Given the description of an element on the screen output the (x, y) to click on. 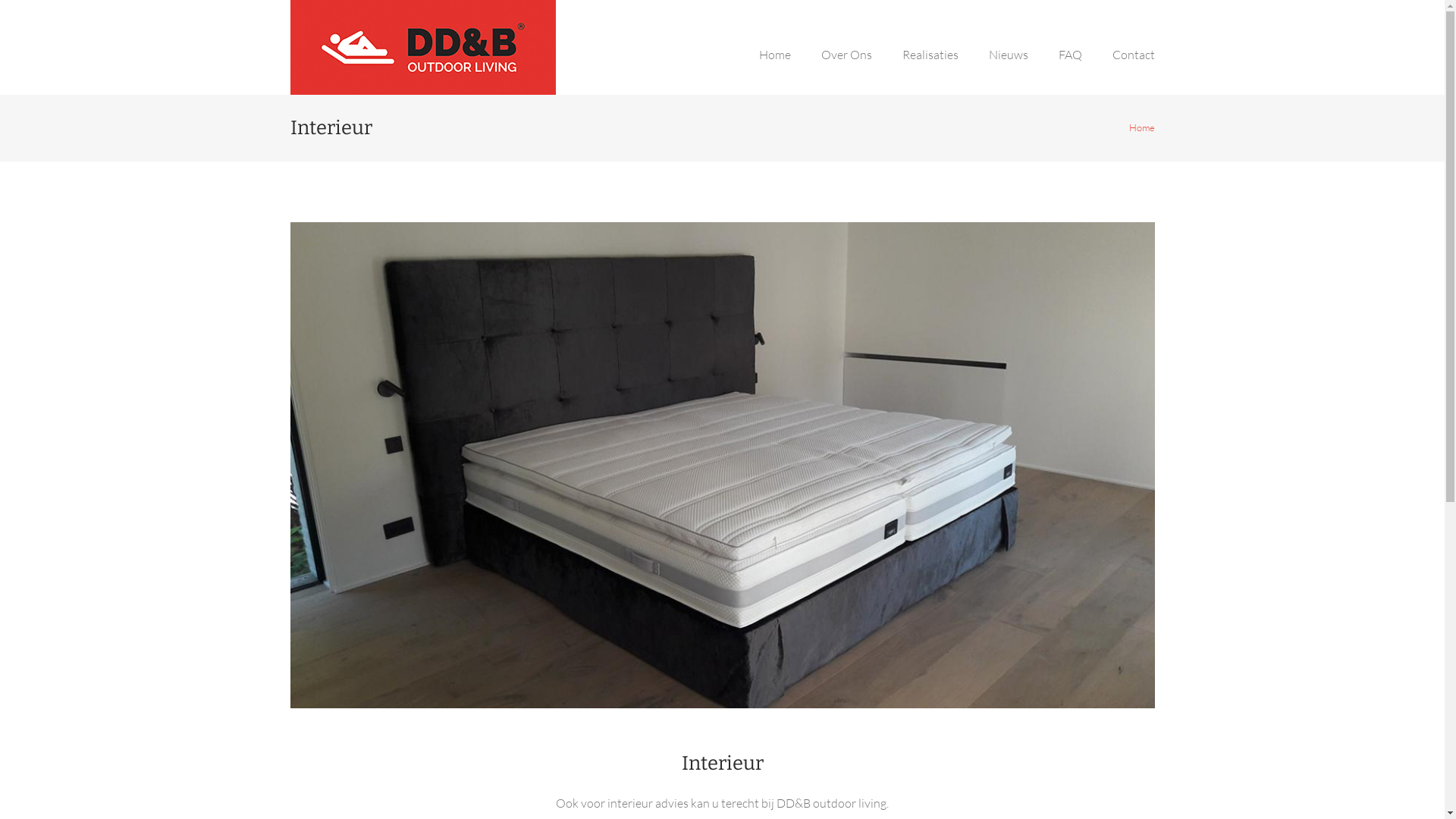
Home Element type: text (1141, 127)
FAQ Element type: text (1070, 70)
Nieuws Element type: text (1008, 70)
Interieur Element type: hover (721, 465)
Over Ons Element type: text (845, 70)
Realisaties Element type: text (930, 70)
Contact Element type: text (1125, 70)
Home Element type: text (774, 70)
